Given the description of an element on the screen output the (x, y) to click on. 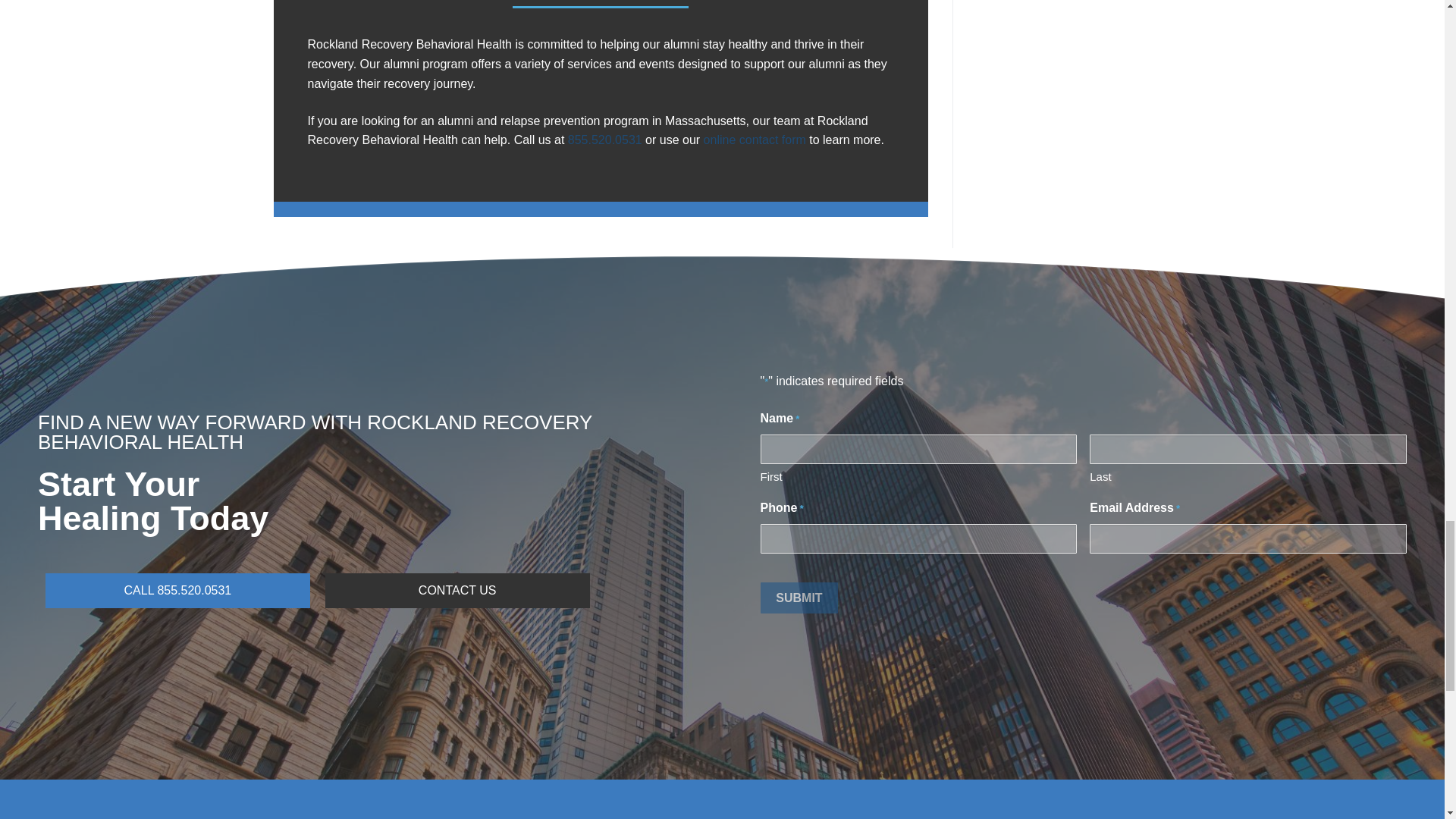
Submit (799, 598)
